Given the description of an element on the screen output the (x, y) to click on. 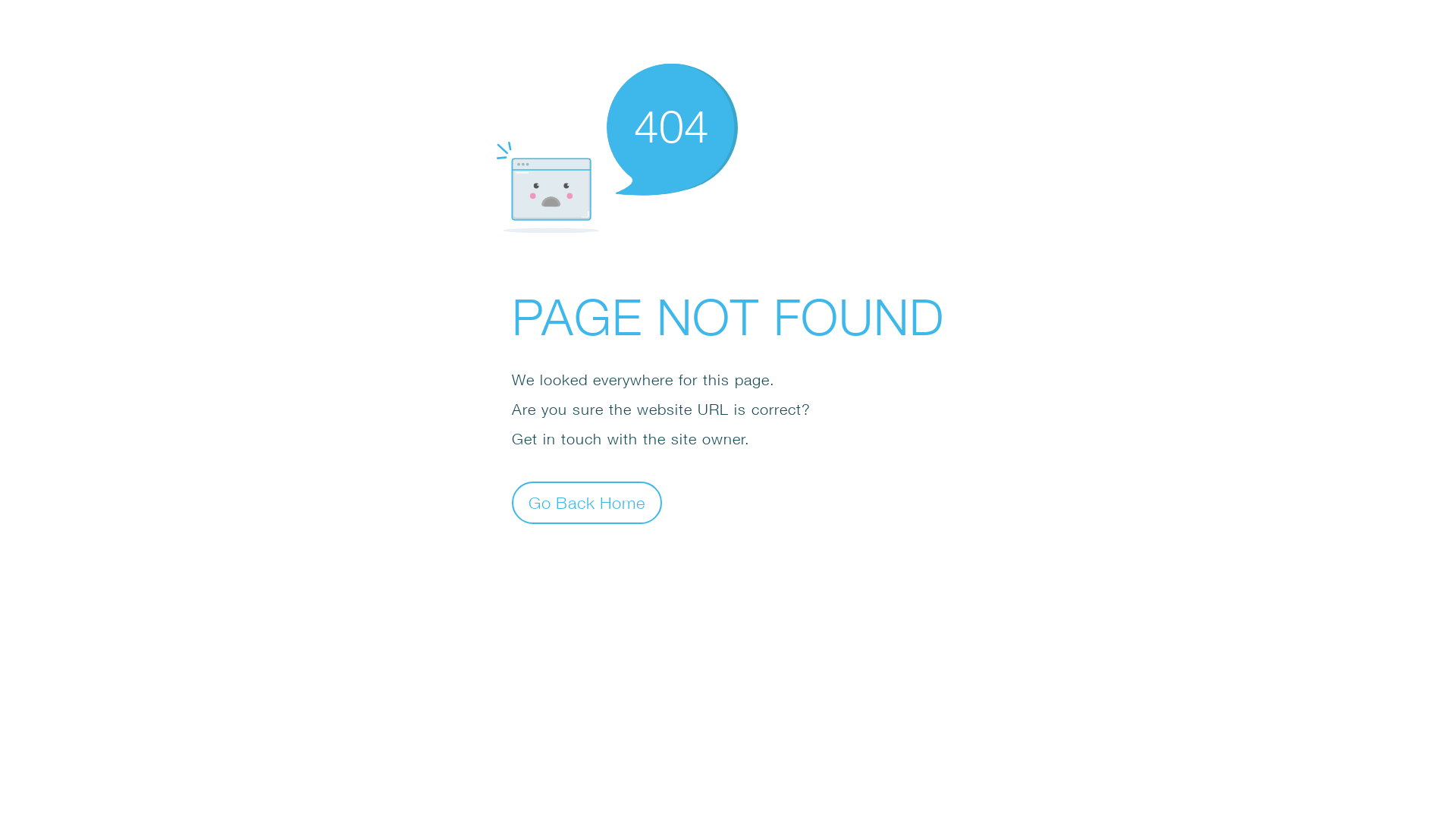
Go Back Home Element type: text (586, 502)
